Given the description of an element on the screen output the (x, y) to click on. 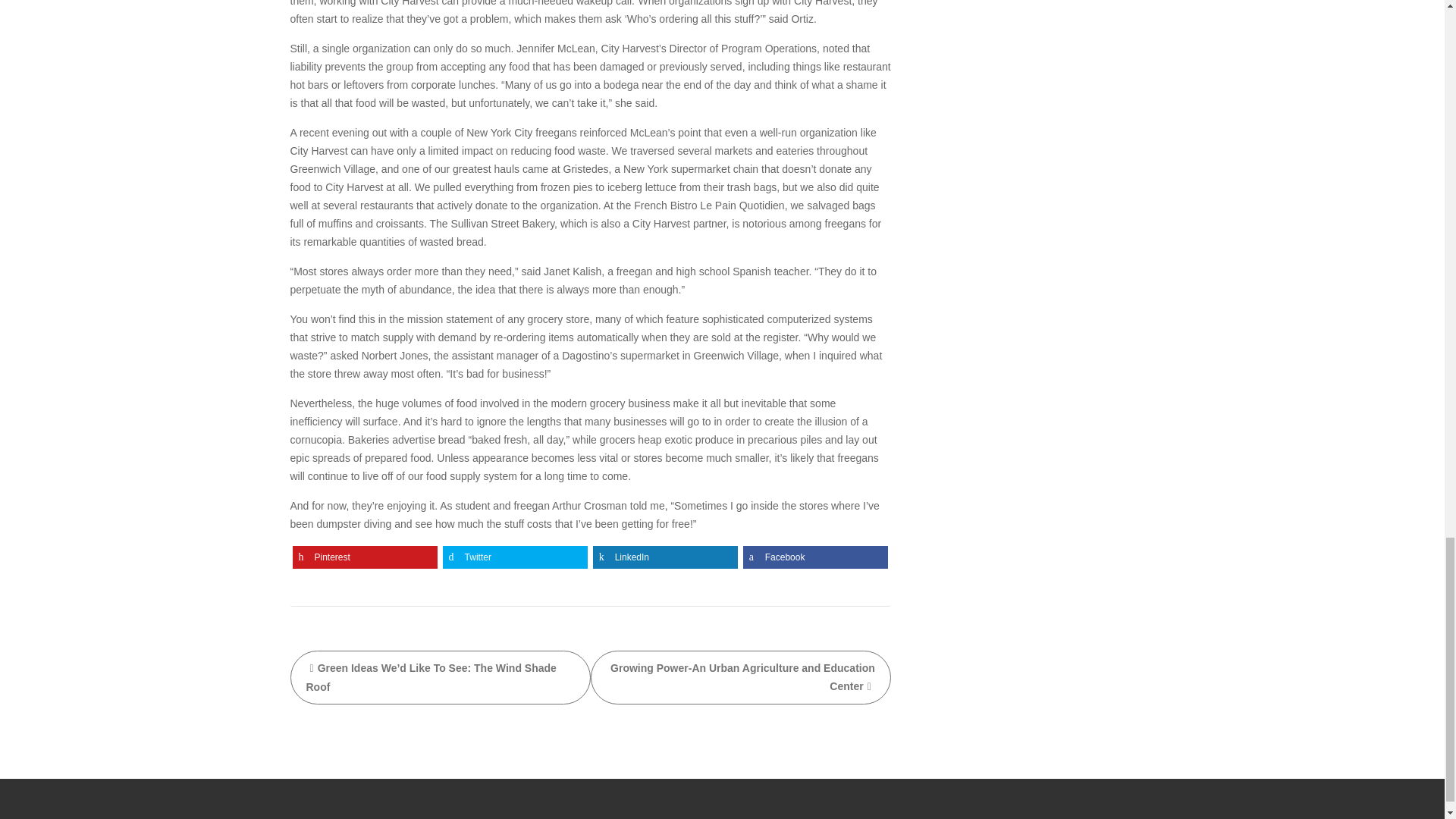
LinkedIn (665, 557)
Facebook (815, 557)
Twitter (515, 557)
Growing Power-An Urban Agriculture and Education Center (741, 677)
Pinterest (365, 557)
